Given the description of an element on the screen output the (x, y) to click on. 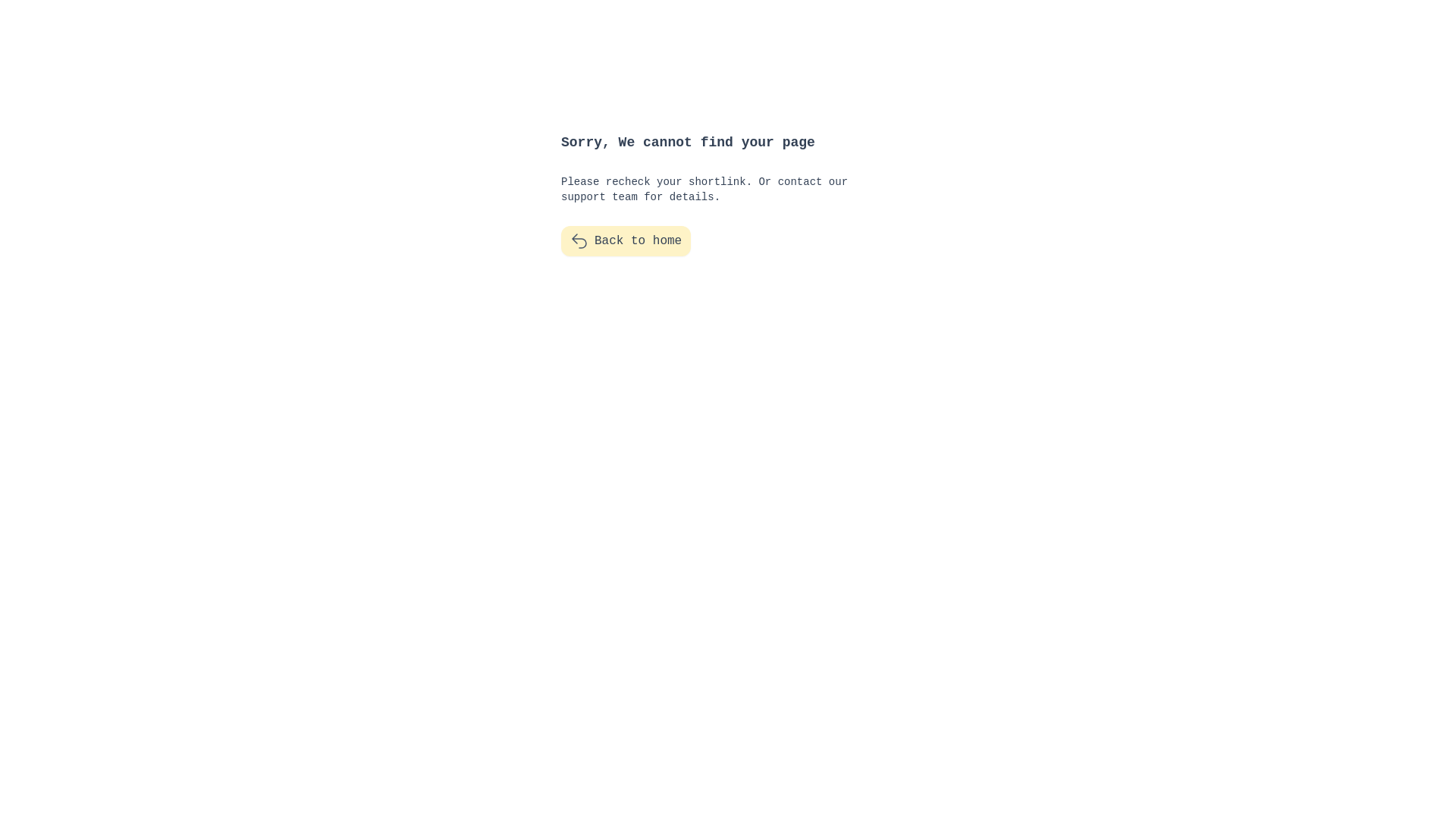
Back to home Element type: text (625, 240)
